Given the description of an element on the screen output the (x, y) to click on. 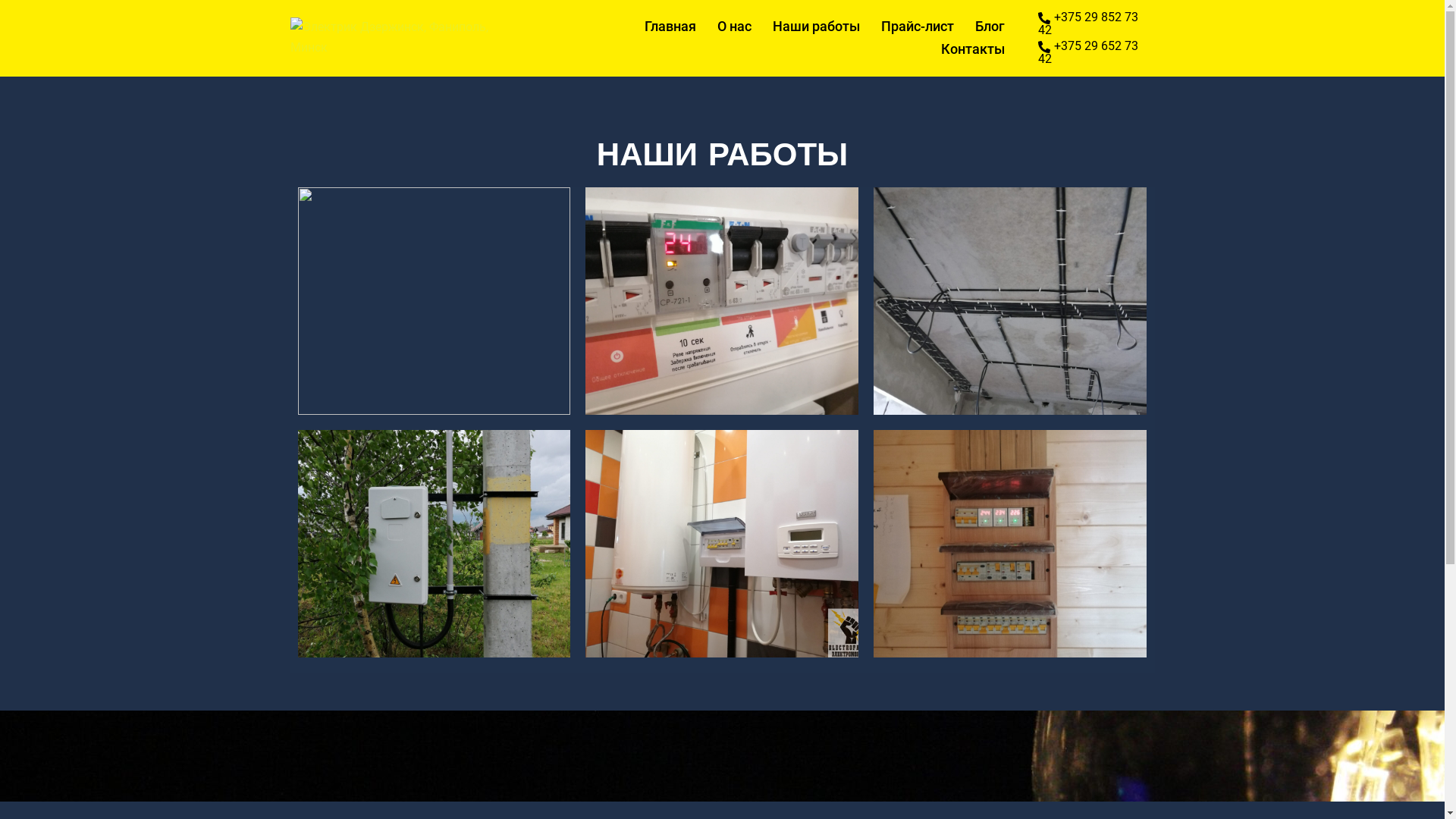
+375 29 652 73 42 Element type: text (1096, 52)
+375 29 852 73 42 Element type: text (1096, 23)
